Given the description of an element on the screen output the (x, y) to click on. 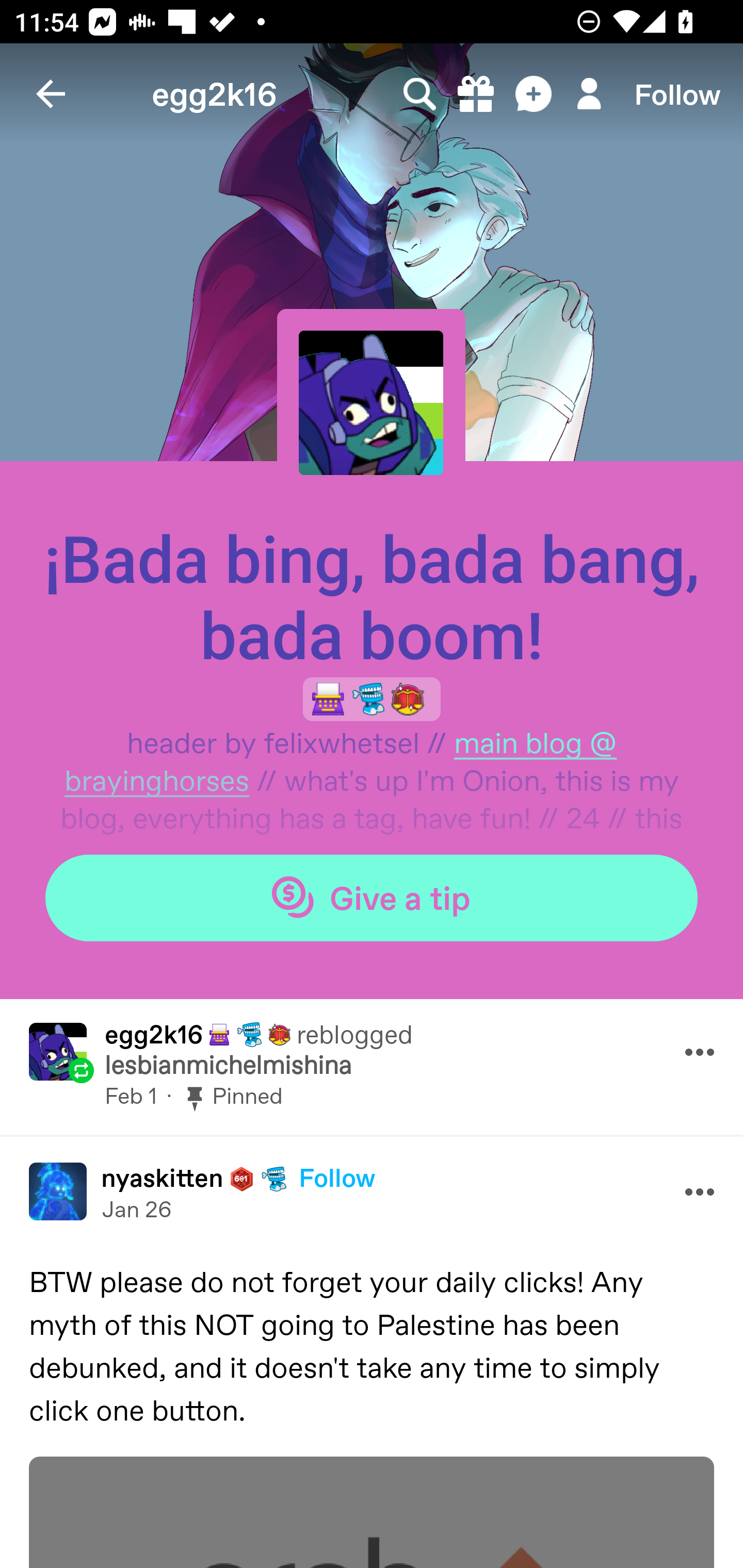
Navigate up (50, 93)
Messages (535, 93)
Follow (677, 93)
Avatar frame (371, 402)
